Given the description of an element on the screen output the (x, y) to click on. 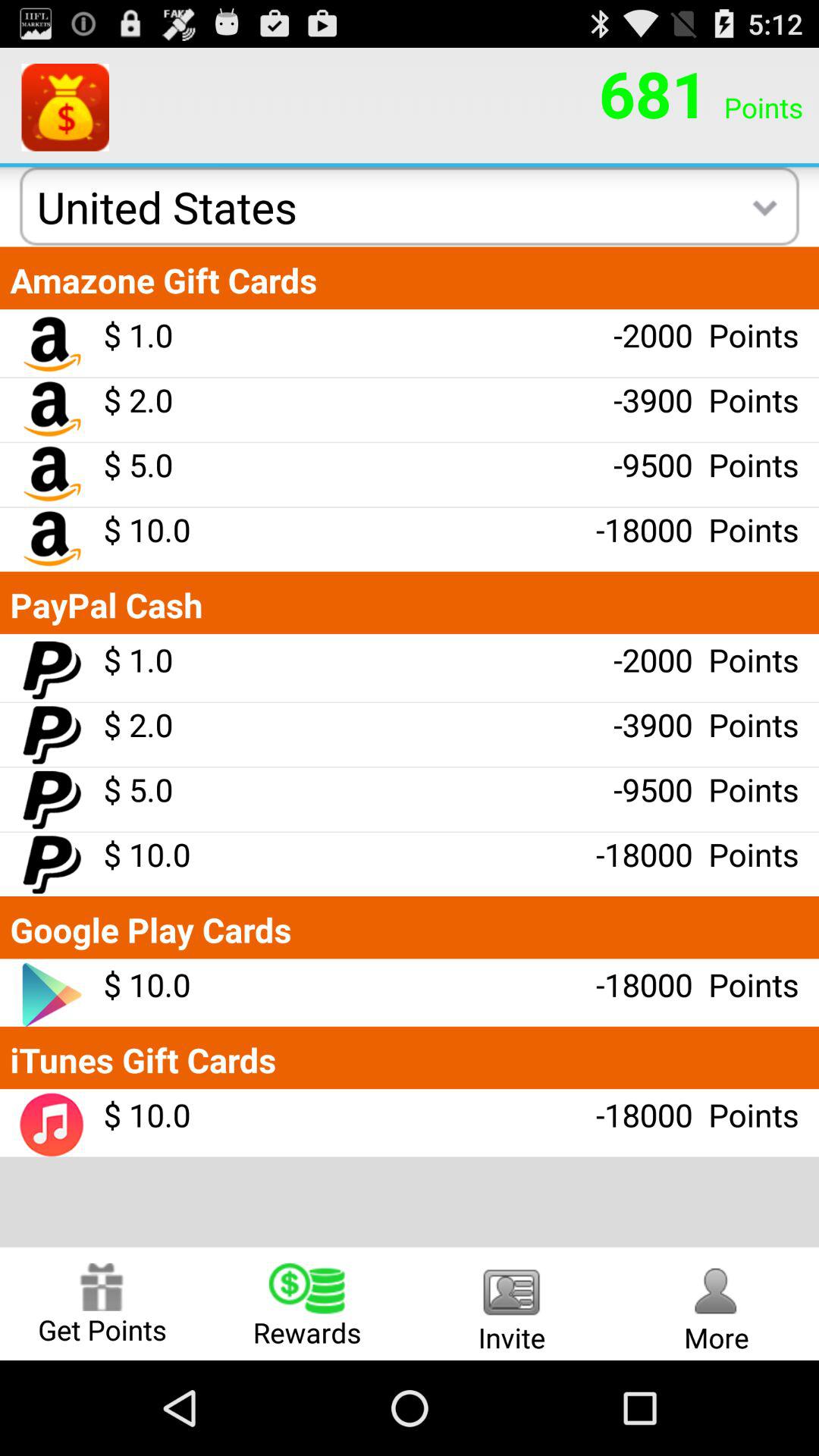
turn off the app below the -18000  points app (716, 1303)
